Given the description of an element on the screen output the (x, y) to click on. 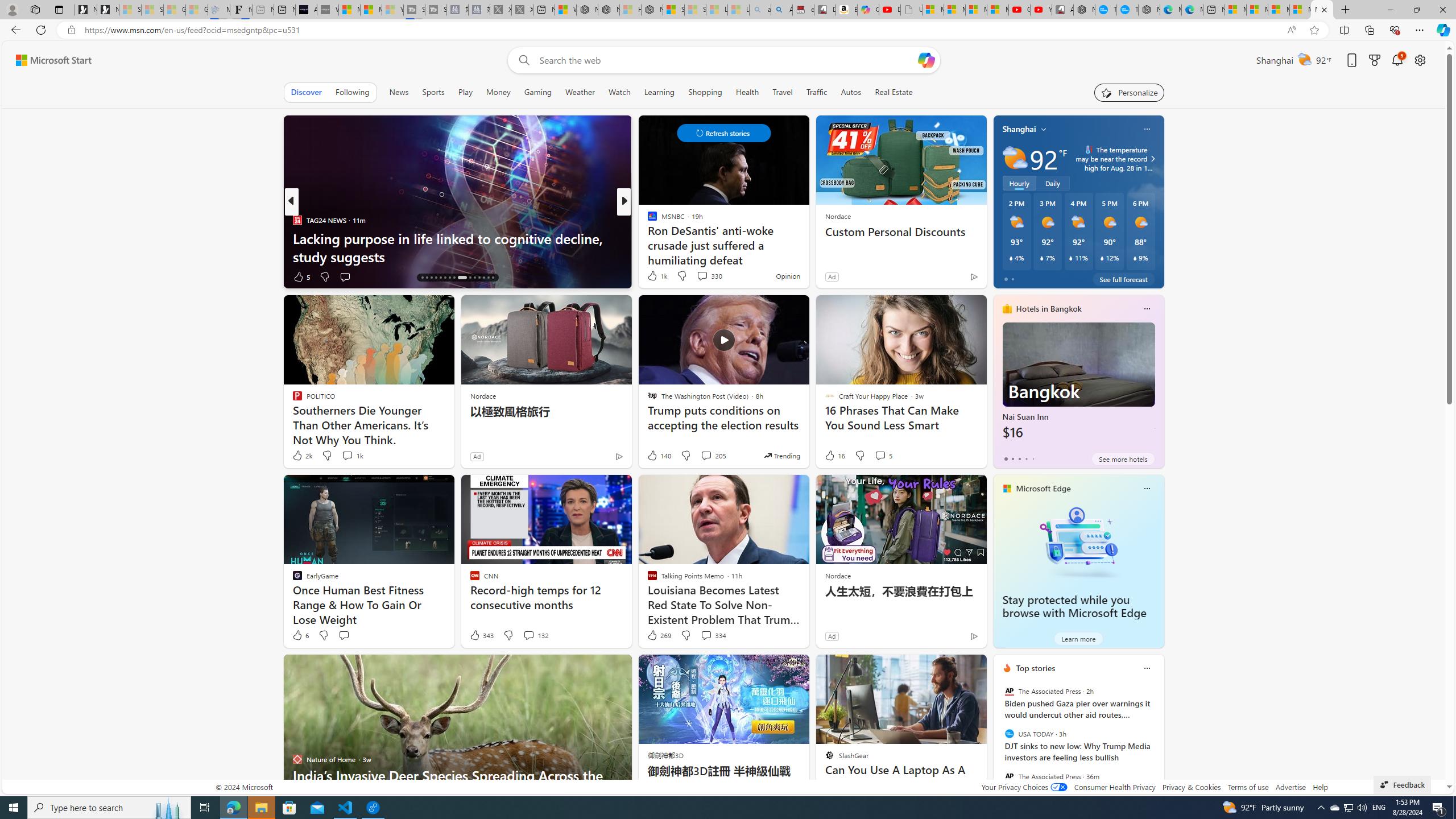
Shopping (705, 92)
Nordace - My Account (1083, 9)
Terms of use (1247, 786)
Copilot (868, 9)
View comments 1 Comment (702, 276)
Web search (520, 60)
Autos (851, 92)
tab-3 (1025, 458)
